Given the description of an element on the screen output the (x, y) to click on. 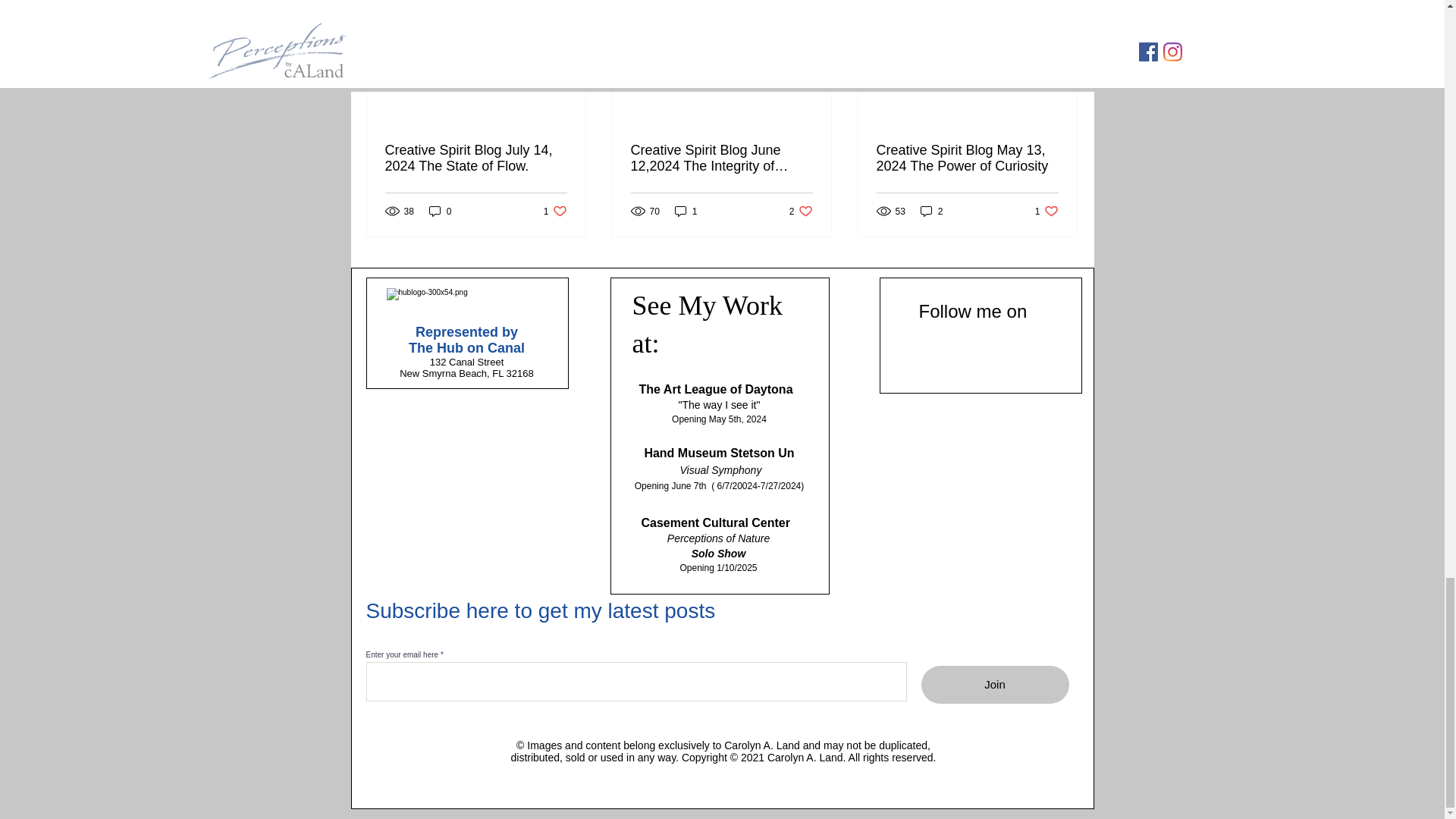
Join (994, 684)
Creative Spirit Blog July 14, 2024 The State of Flow. (476, 158)
0 (800, 210)
Creative Spirit Blog May 13, 2024 The Power of Curiosity (1046, 210)
Represented by (555, 210)
Creative Spirit Blog June 12,2024 The Integrity of Selfhood (440, 210)
1 (967, 158)
2 (466, 331)
The Hub on Canal (721, 158)
